Given the description of an element on the screen output the (x, y) to click on. 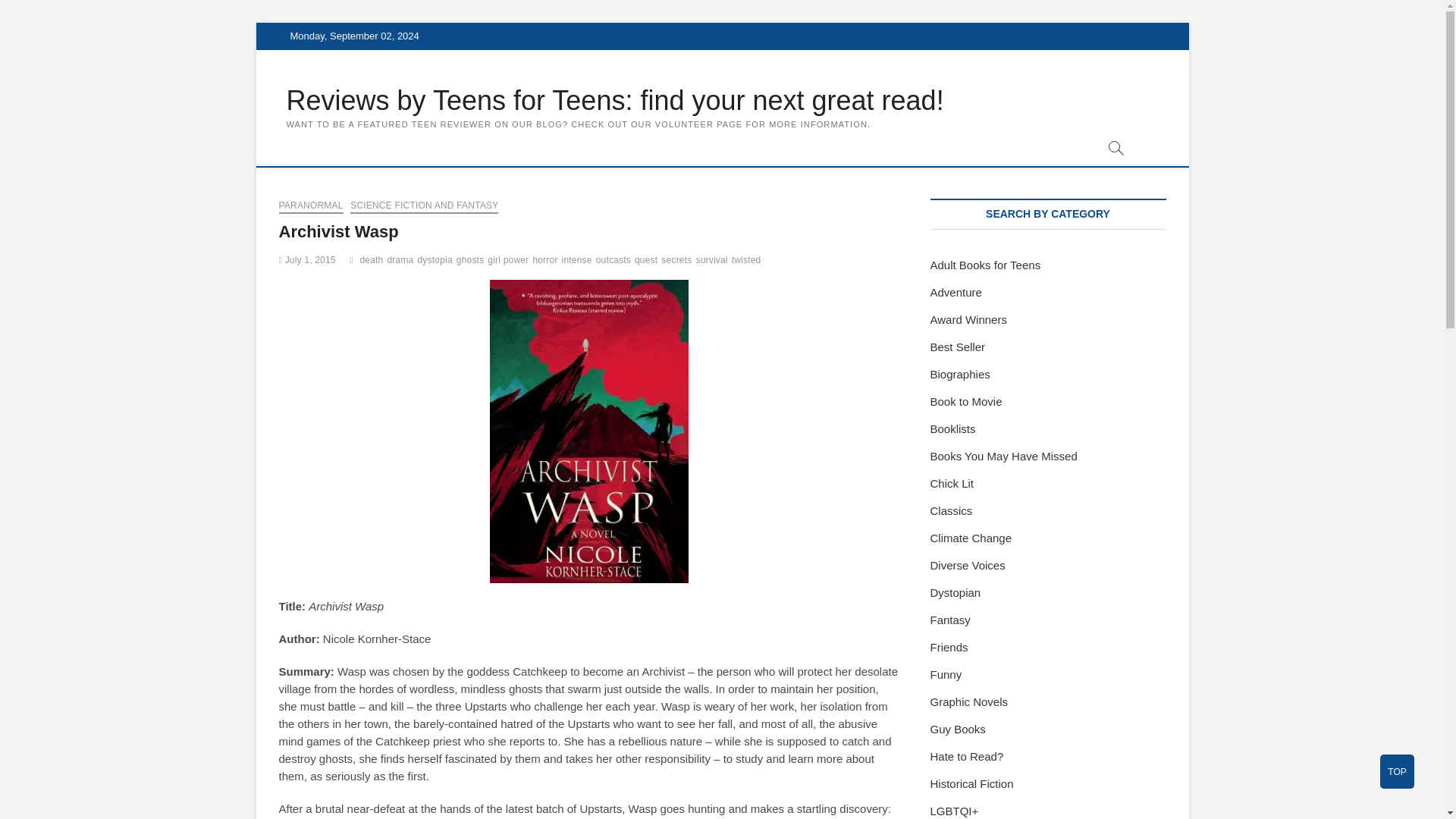
Booklists (952, 428)
Chick Lit (952, 482)
Best Seller (957, 346)
Classics (951, 510)
Funny (945, 674)
death (373, 261)
Dystopian (954, 592)
ghosts (472, 261)
July 1, 2015 (307, 259)
Friends (949, 646)
